Given the description of an element on the screen output the (x, y) to click on. 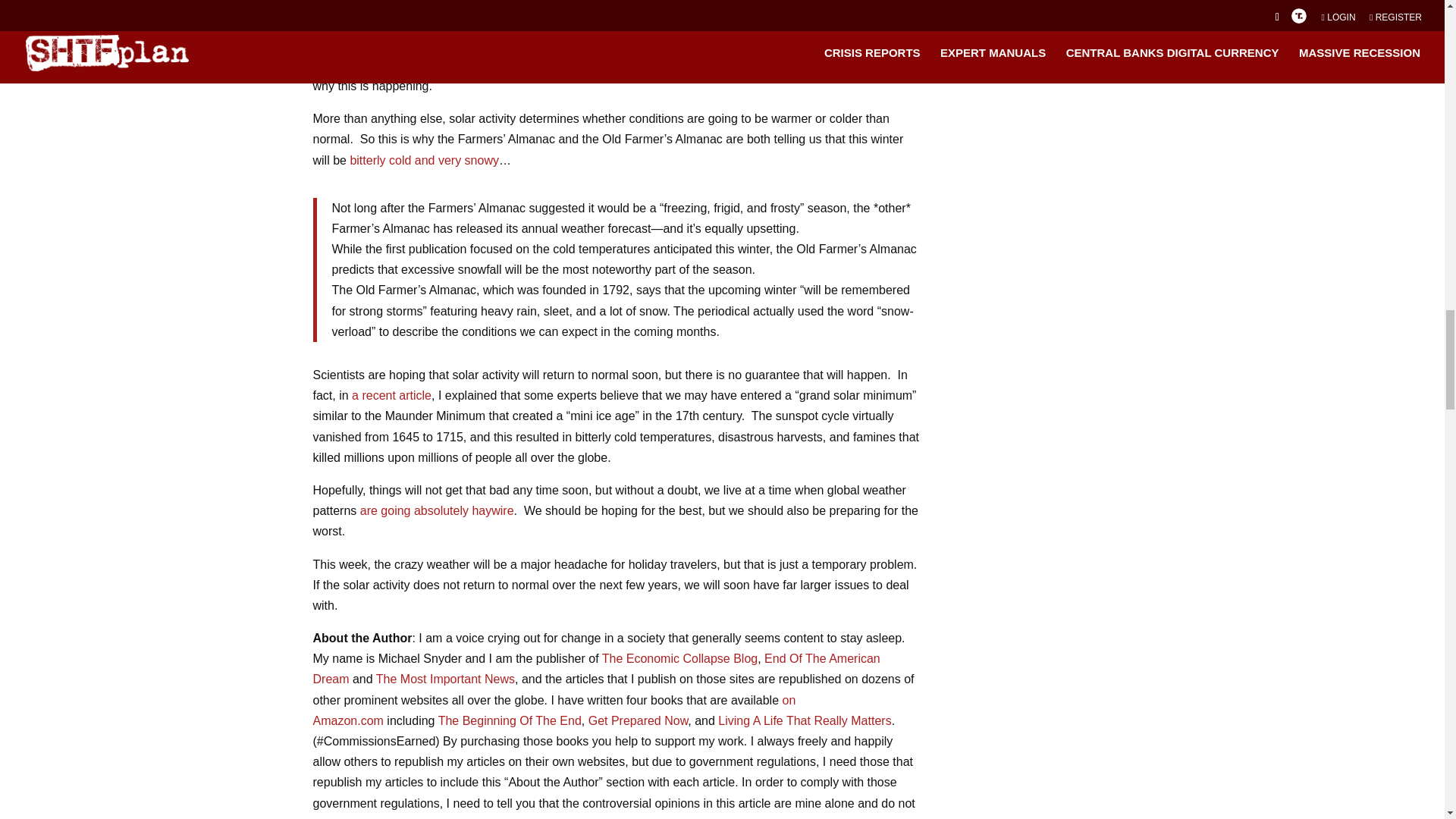
unusually cold and snowy (424, 159)
Living A Life That Really Matters (804, 720)
on Amazon.com (553, 710)
The Economic Collapse Blog (679, 658)
bitterly cold and very snowy (424, 159)
The Beginning Of The End (509, 720)
a recent article (391, 395)
End Of The American Dream (596, 668)
The Most Important News (445, 678)
are going absolutely haywire (436, 510)
Get Prepared Now (638, 720)
